Given the description of an element on the screen output the (x, y) to click on. 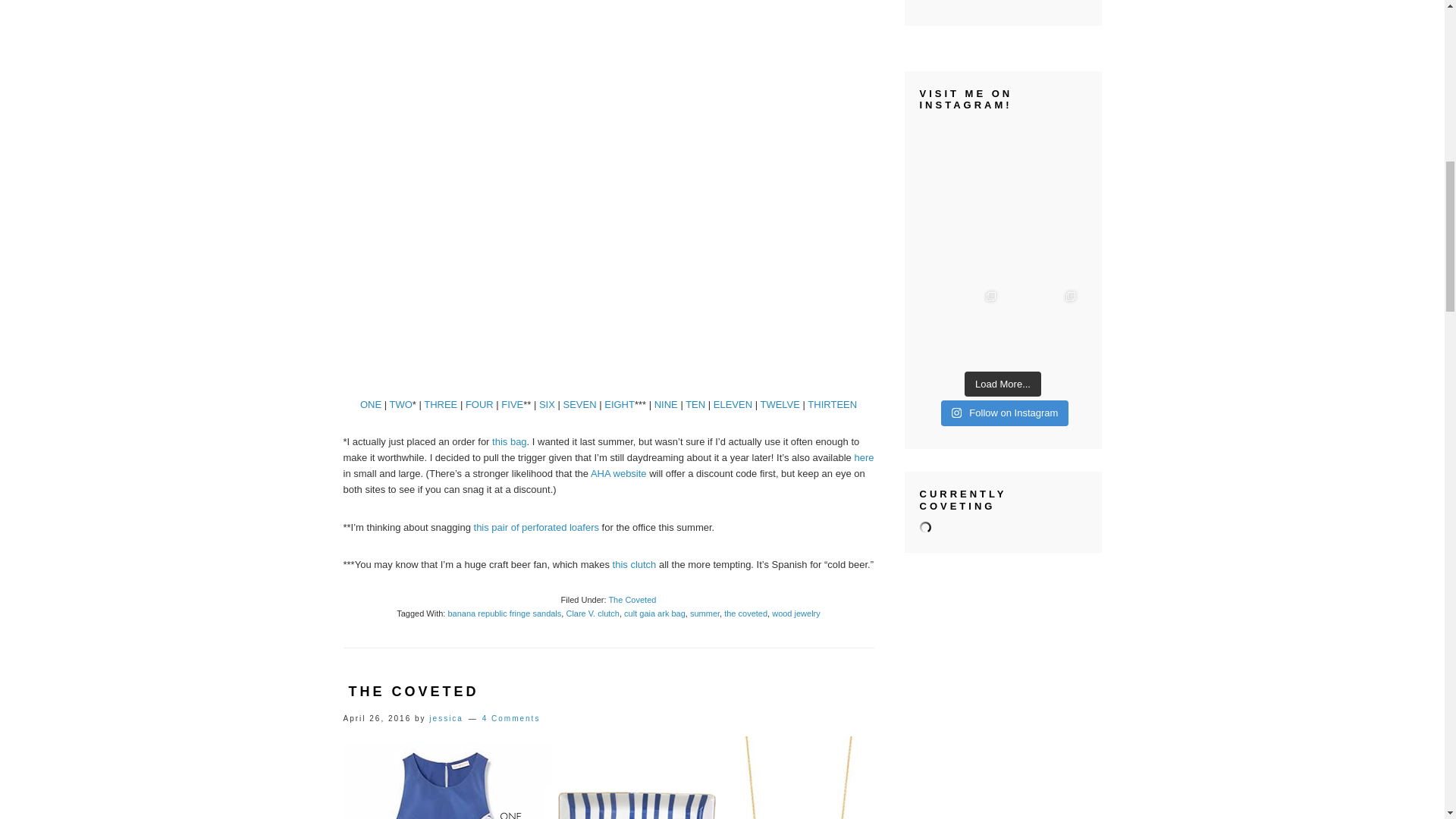
this bag (509, 441)
FOUR (479, 404)
SIX (546, 404)
NINE (665, 404)
FIVE (511, 404)
THREE (440, 404)
THIRTEEN (832, 404)
EIGHT (619, 404)
SEVEN (579, 404)
ELEVEN (732, 404)
